Given the description of an element on the screen output the (x, y) to click on. 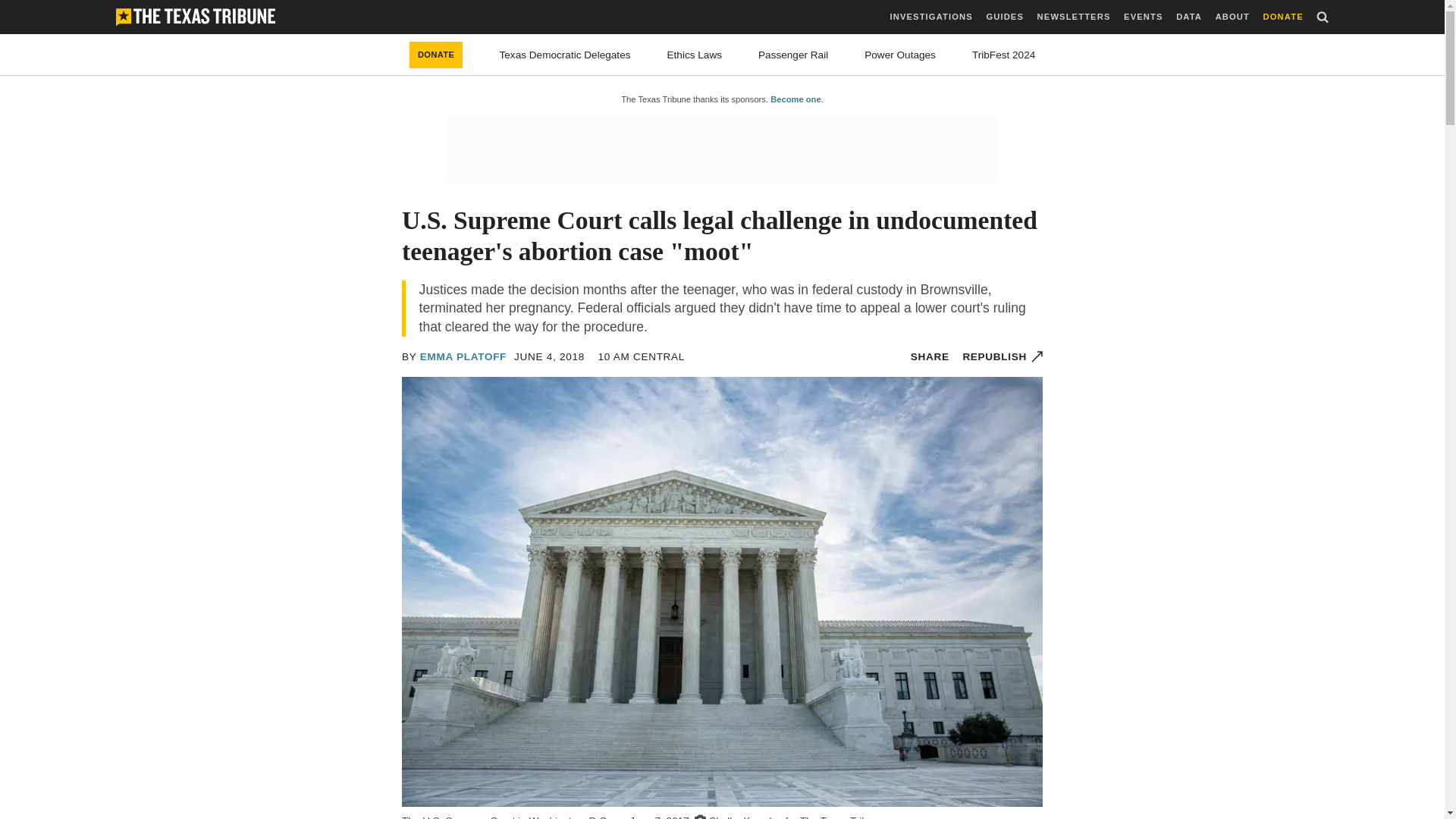
INVESTIGATIONS (930, 17)
EMMA PLATOFF (463, 356)
NEWSLETTERS (1073, 17)
DATA (1189, 17)
3rd party ad content (721, 150)
ABOUT (1232, 17)
EVENTS (1142, 17)
Passenger Rail (793, 54)
DONATE (1283, 17)
Ethics Laws (694, 54)
Texas Democratic Delegates (564, 54)
DONATE (436, 54)
REPUBLISH (1002, 356)
Power Outages (900, 54)
Become one (795, 99)
